Given the description of an element on the screen output the (x, y) to click on. 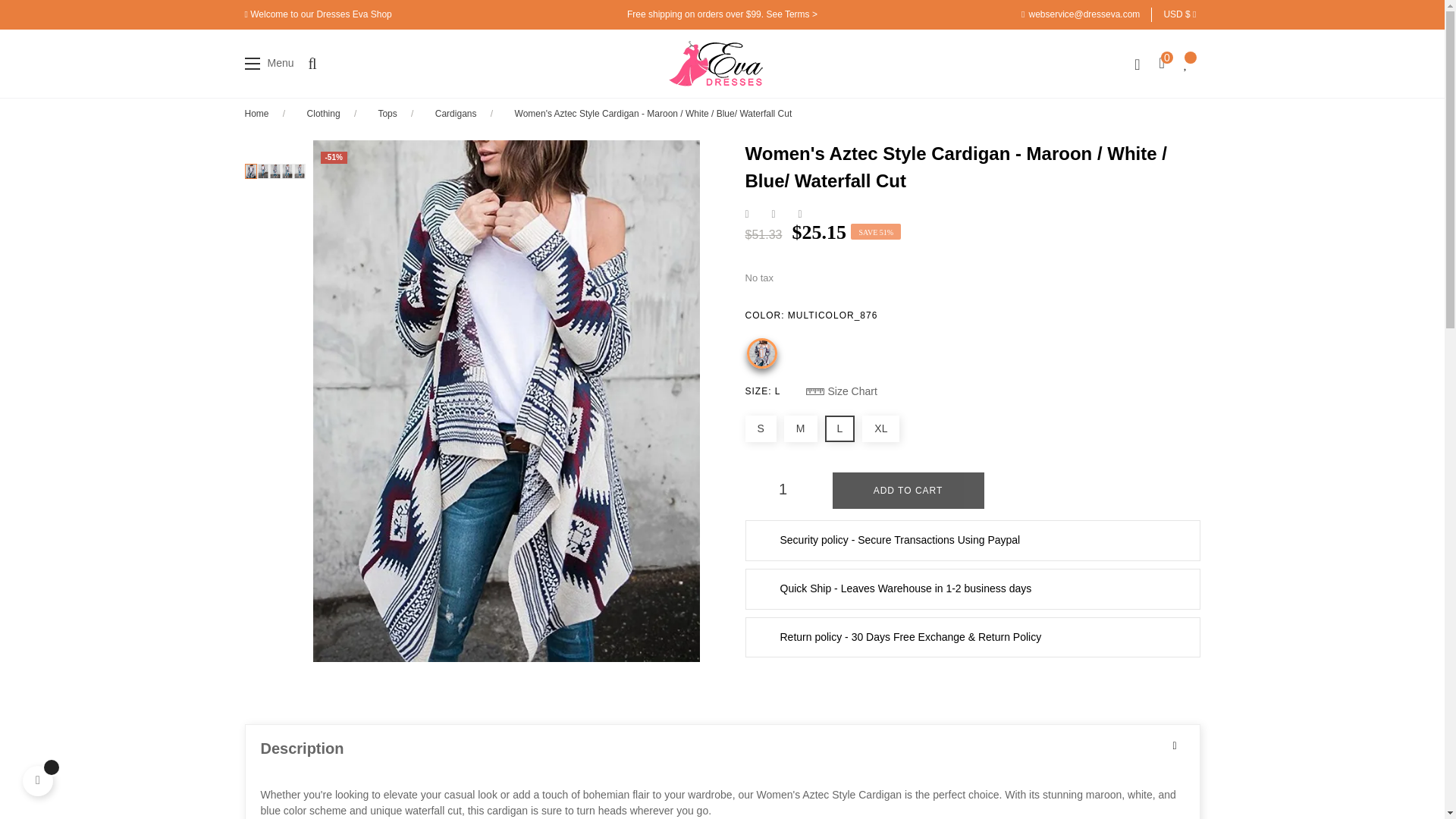
Welcome to our Dresses Eva Shop (320, 14)
1 (782, 489)
Currency (1181, 14)
